Given the description of an element on the screen output the (x, y) to click on. 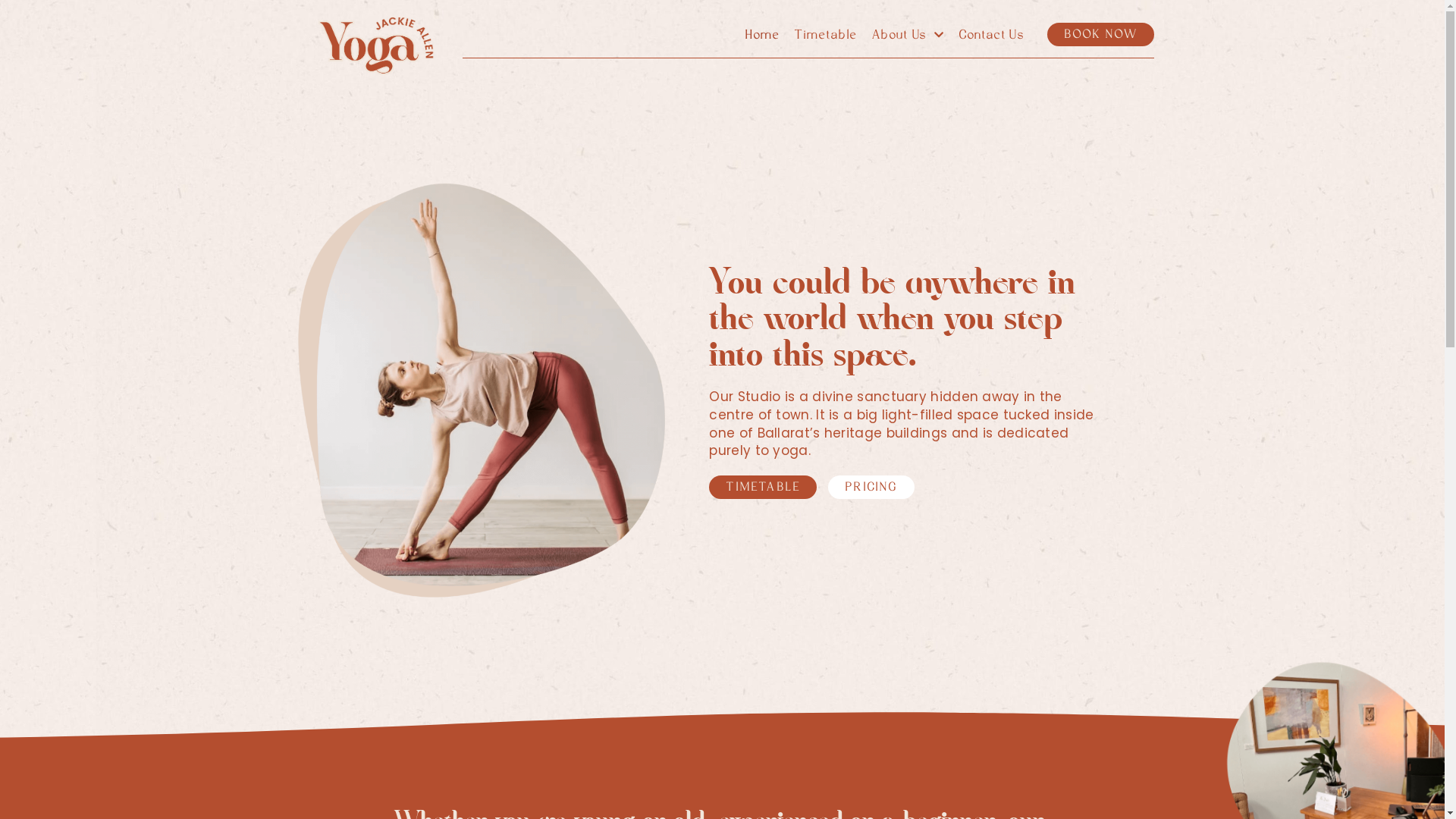
Contact Us Element type: text (990, 34)
TIMETABLE Element type: text (762, 486)
BOOK NOW Element type: text (1100, 34)
PRICING Element type: text (870, 486)
Timetable Element type: text (824, 34)
Home Element type: text (761, 34)
About Us Element type: text (906, 34)
